Given the description of an element on the screen output the (x, y) to click on. 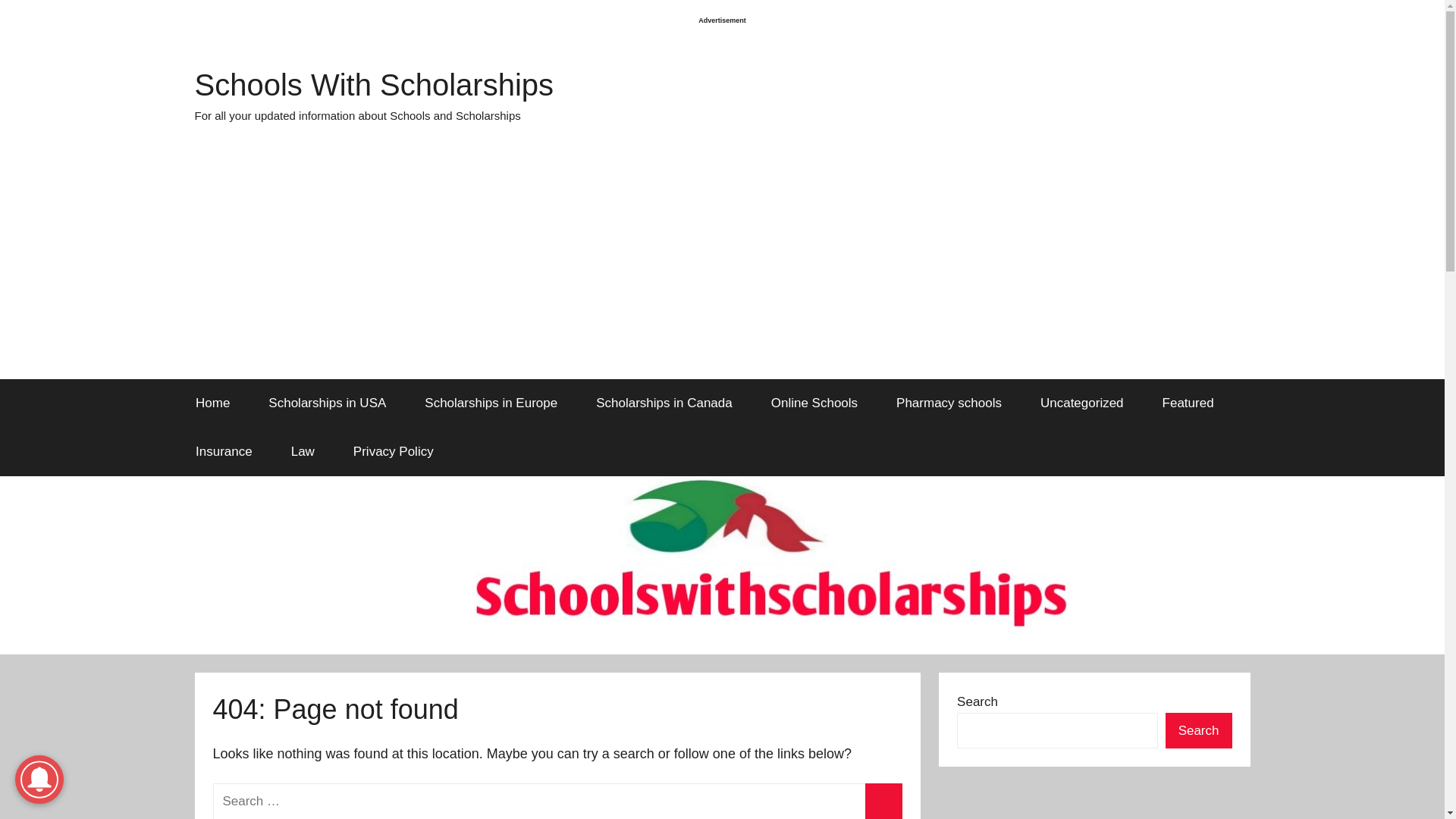
Scholarships in Europe (491, 403)
Featured (1187, 403)
Advertisement (1094, 801)
Scholarships in USA (327, 403)
Search for: (557, 800)
Schools With Scholarships (373, 84)
Scholarships in Canada (664, 403)
Home (212, 403)
Uncategorized (1081, 403)
